Given the description of an element on the screen output the (x, y) to click on. 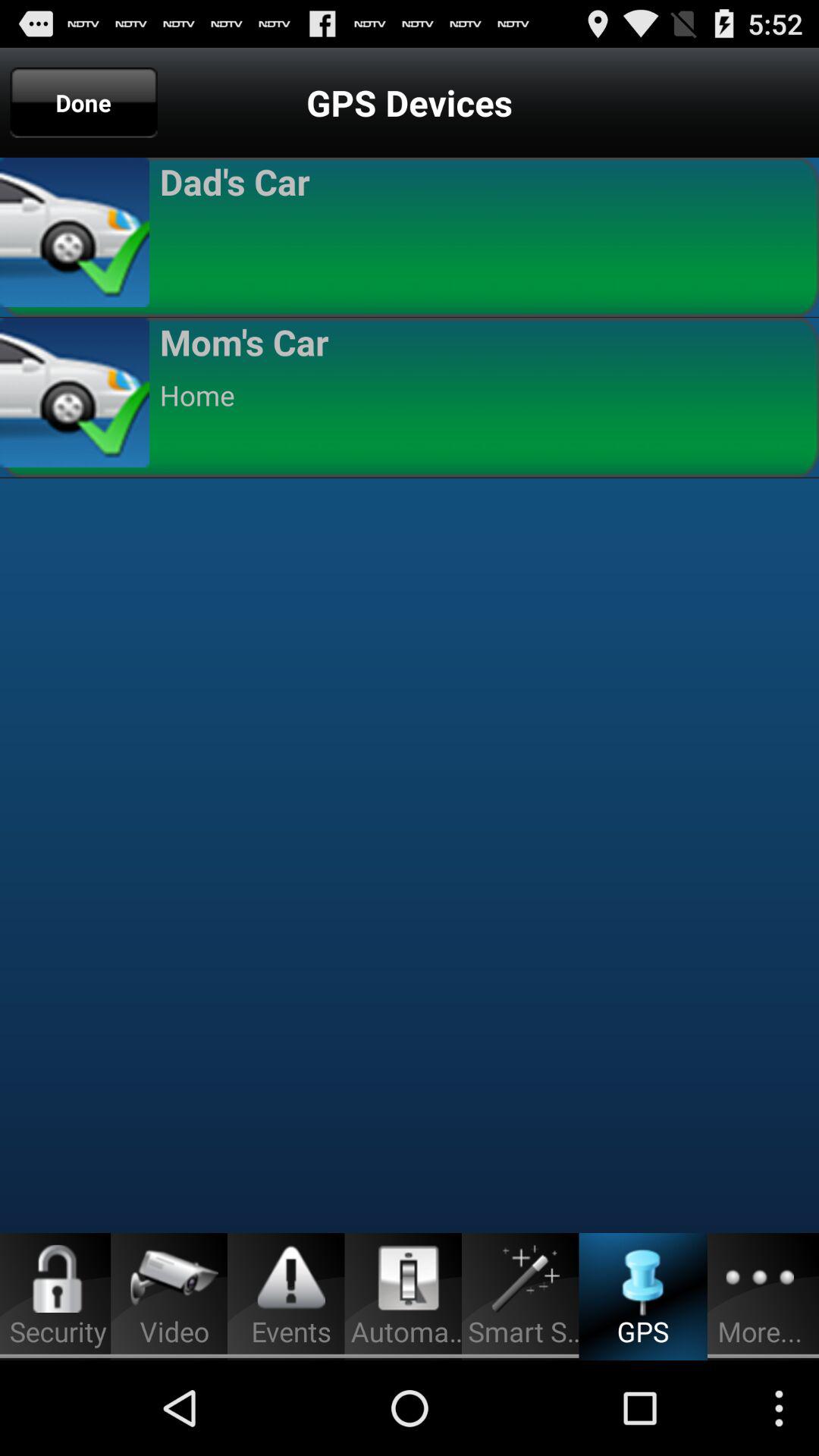
tap the app below mom's car icon (481, 395)
